Given the description of an element on the screen output the (x, y) to click on. 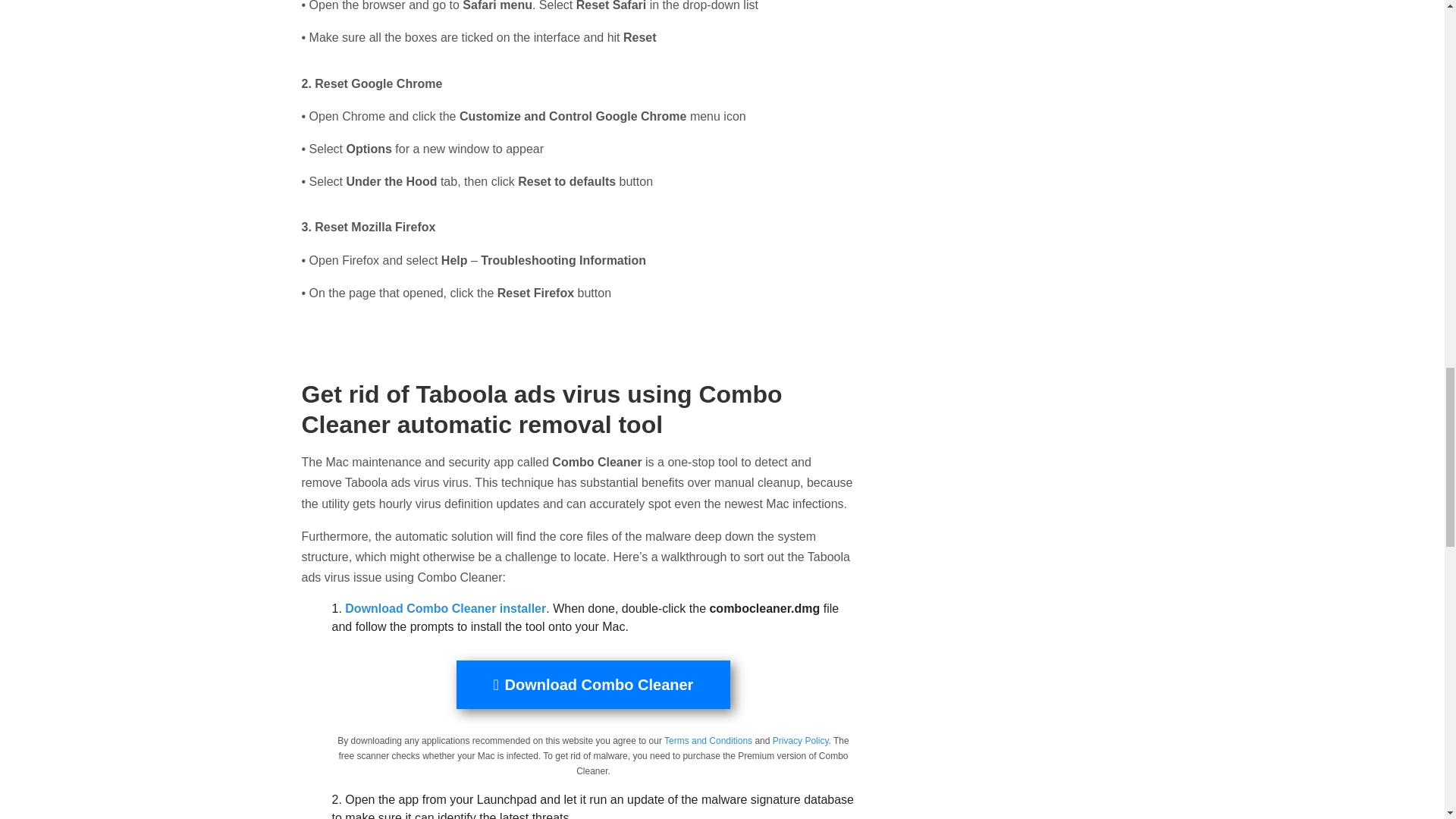
Download Combo Cleaner installer (445, 608)
Privacy Policy (800, 740)
Download Combo Cleaner (593, 684)
Terms and Conditions (707, 740)
